Given the description of an element on the screen output the (x, y) to click on. 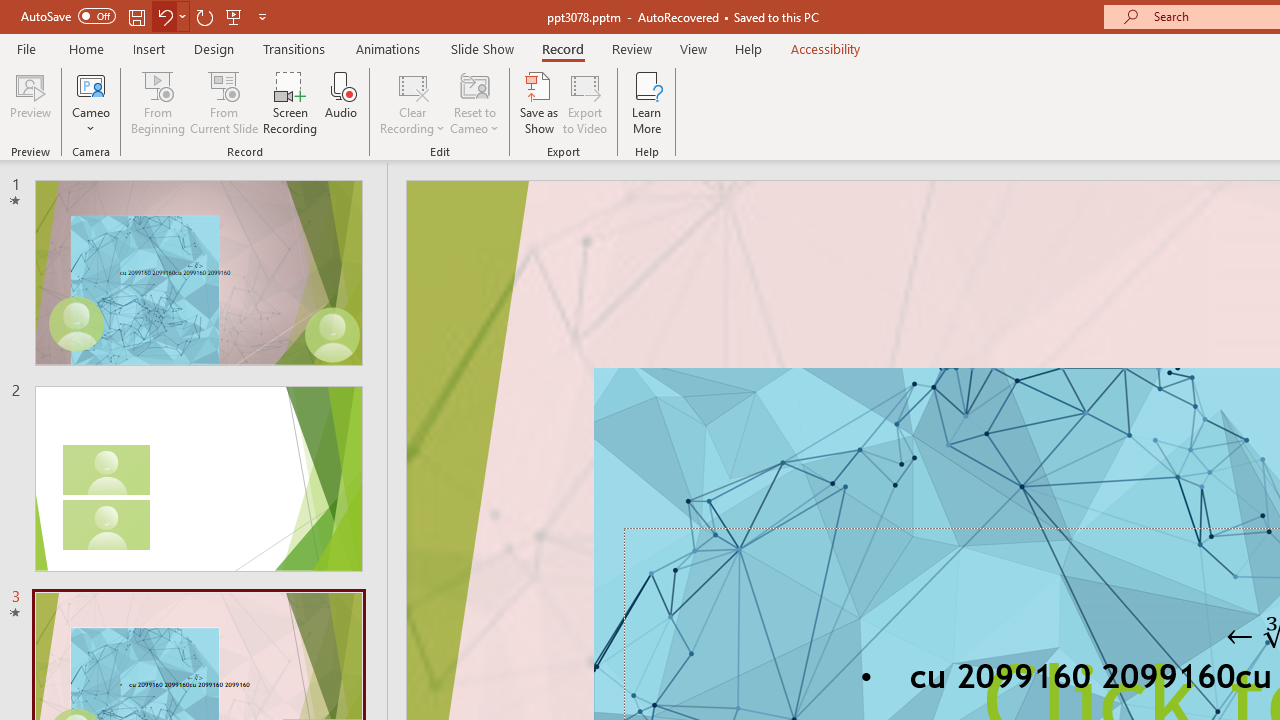
Clear Recording (412, 102)
From Beginning... (158, 102)
Screen Recording (290, 102)
